Given the description of an element on the screen output the (x, y) to click on. 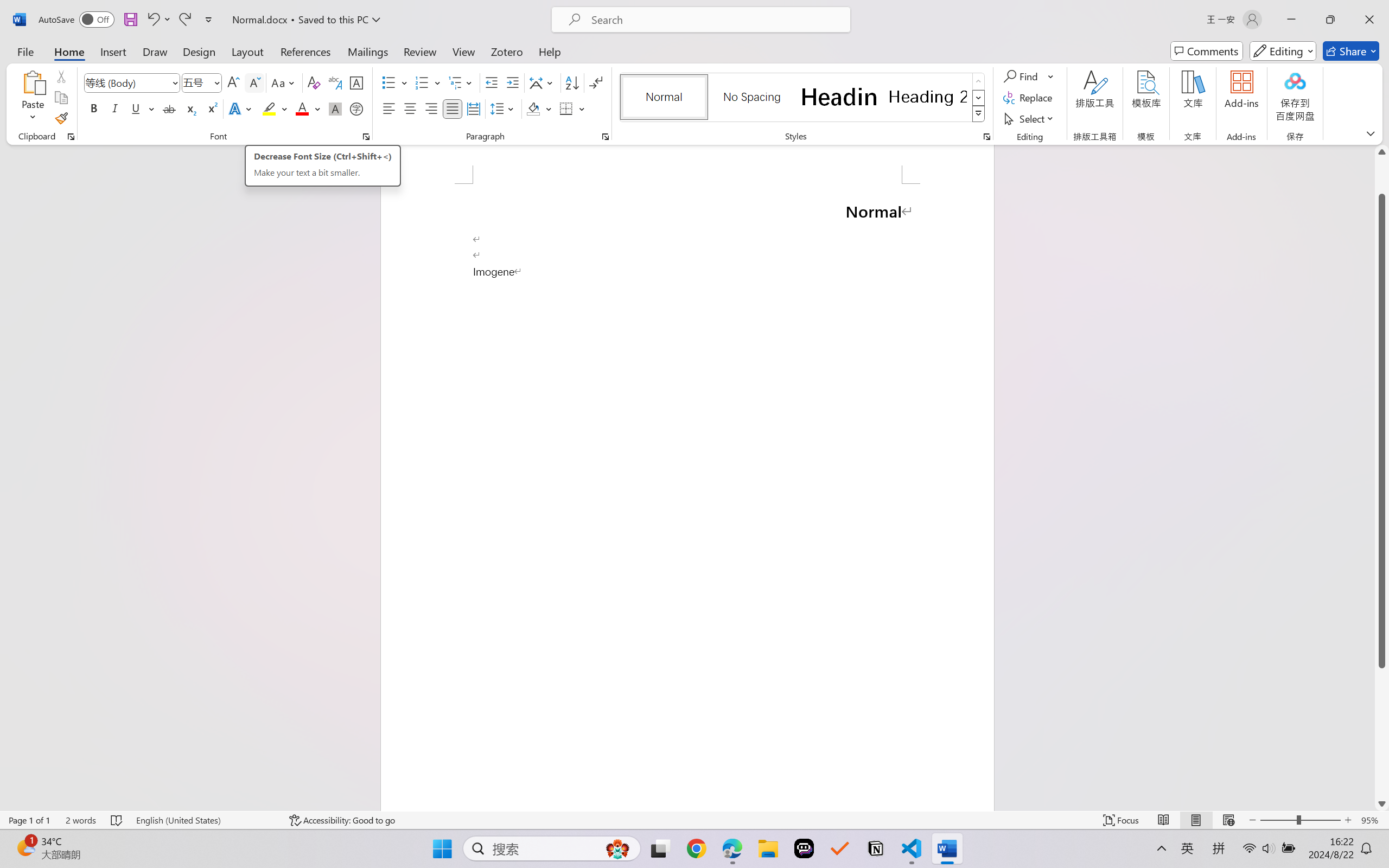
Shading RGB(0, 0, 0) (533, 108)
Line up (1382, 151)
Show/Hide Editing Marks (595, 82)
Strikethrough (169, 108)
Format Painter (60, 118)
Superscript (210, 108)
Justify (452, 108)
Row up (978, 81)
